Given the description of an element on the screen output the (x, y) to click on. 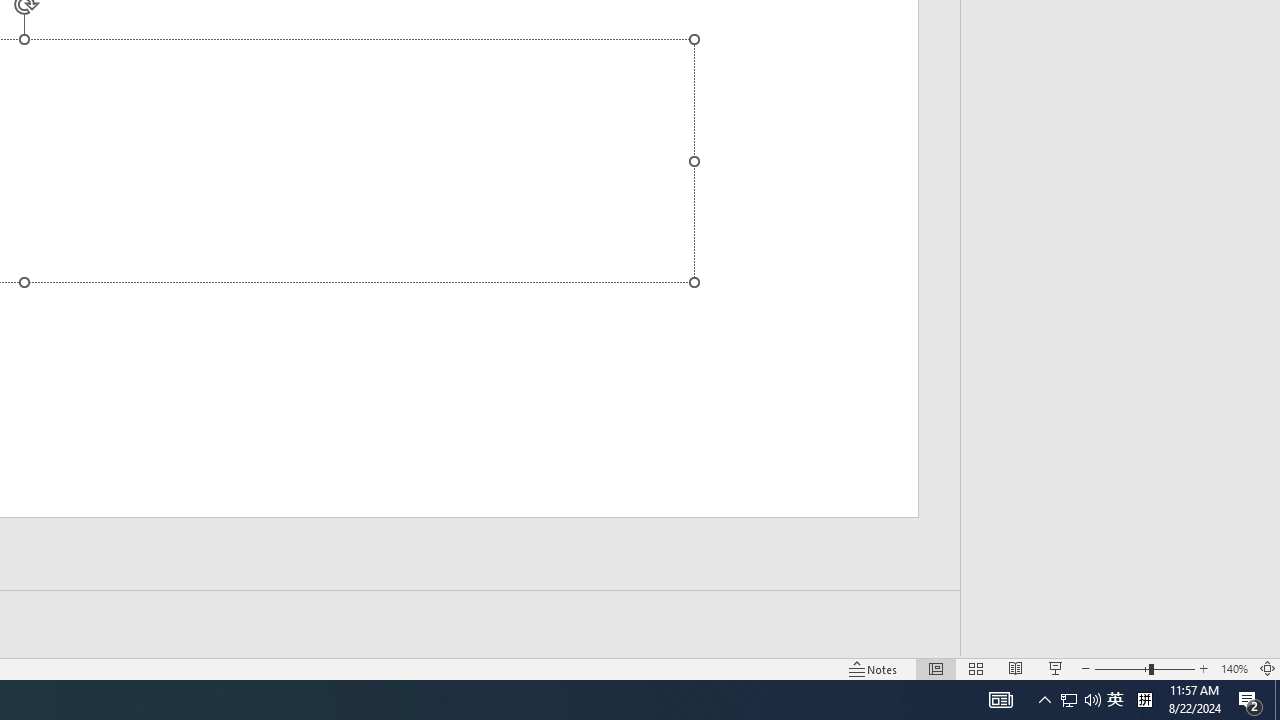
Zoom 140% (1234, 668)
